Given the description of an element on the screen output the (x, y) to click on. 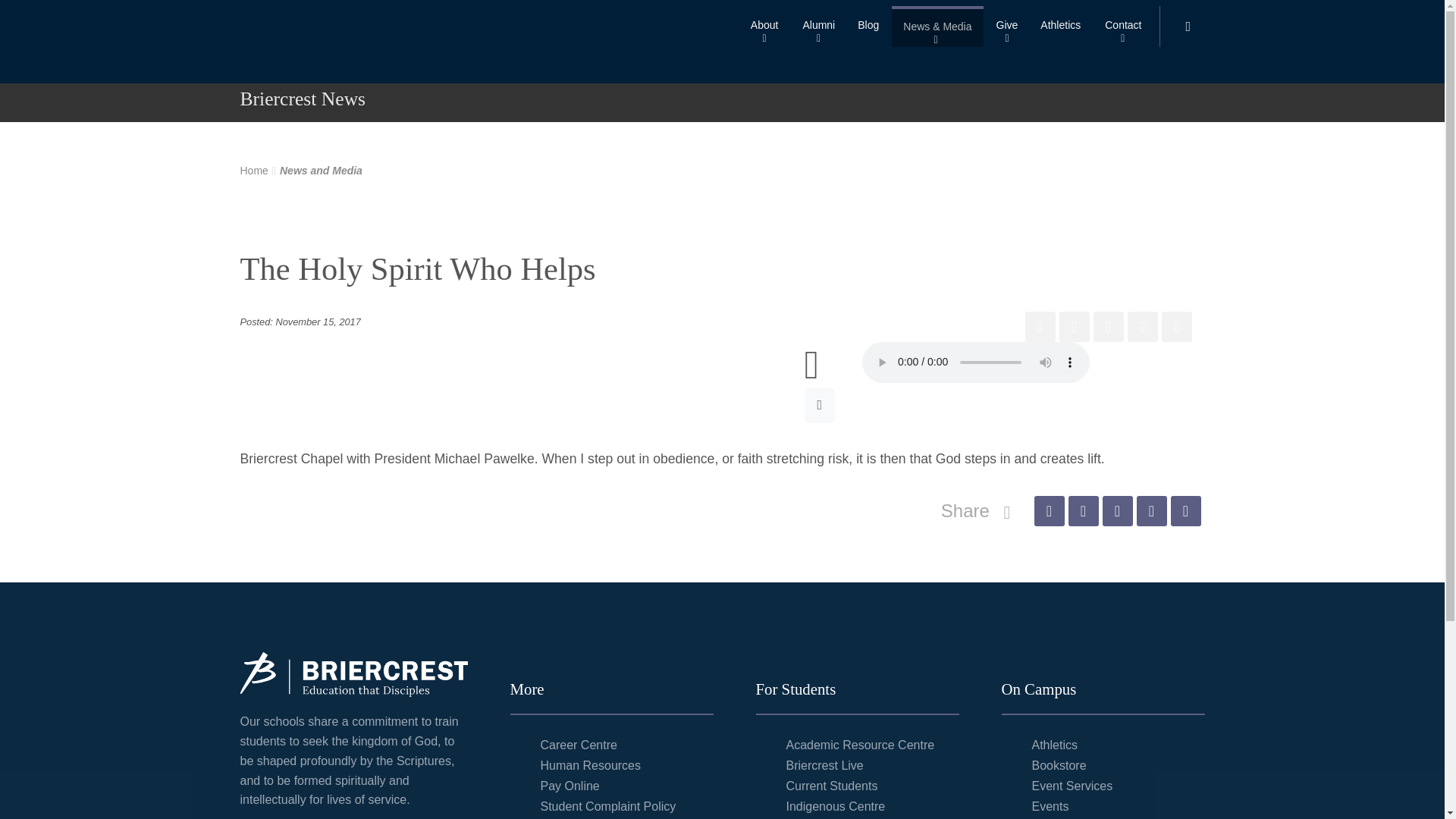
Alumni (817, 26)
About (764, 26)
Contact (1123, 26)
share this to my Twitter account (1082, 511)
Athletics (1060, 26)
Blog (867, 26)
Alumni (817, 26)
Blog (867, 26)
About (764, 26)
download this podcast (820, 405)
